Given the description of an element on the screen output the (x, y) to click on. 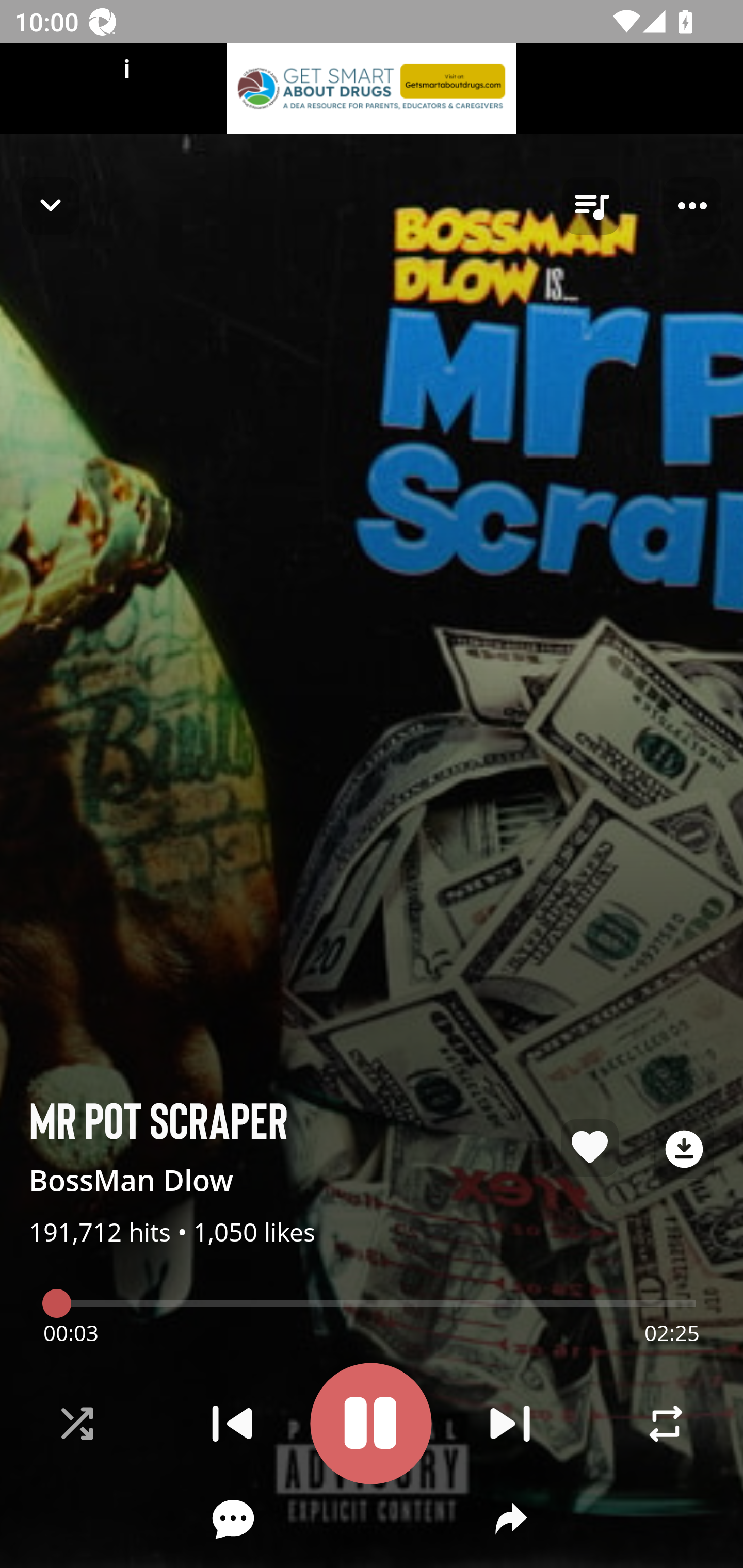
Navigate up (50, 205)
queue (590, 206)
Player options (692, 206)
